Given the description of an element on the screen output the (x, y) to click on. 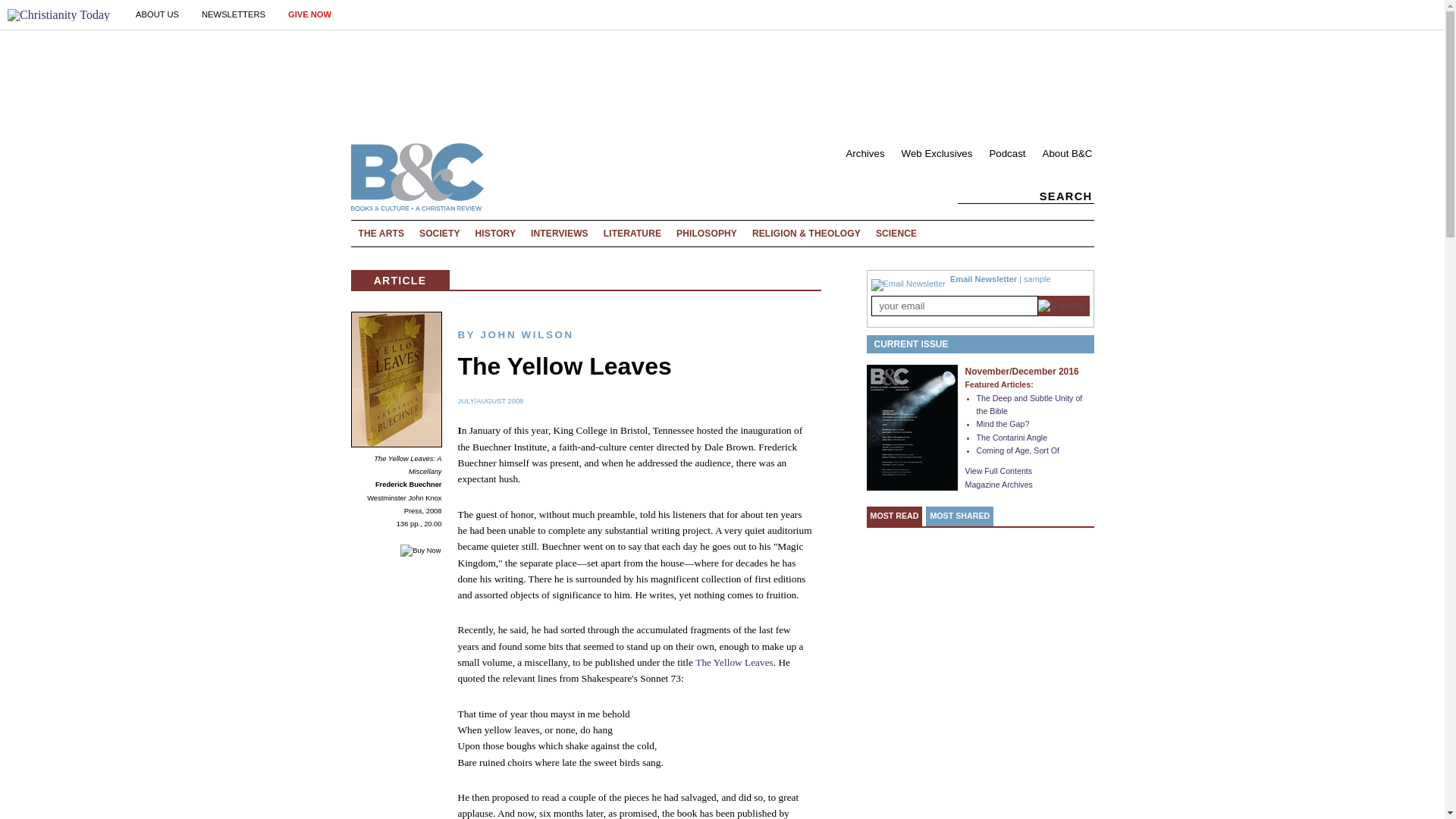
HISTORY (495, 233)
LITERATURE (631, 233)
NEWSLETTERS (233, 14)
your email (953, 305)
GIVE NOW (310, 14)
SOCIETY (439, 233)
SEARCH (1031, 196)
THE ARTS (381, 233)
Christianity Today (58, 15)
SCIENCE (899, 233)
